Given the description of an element on the screen output the (x, y) to click on. 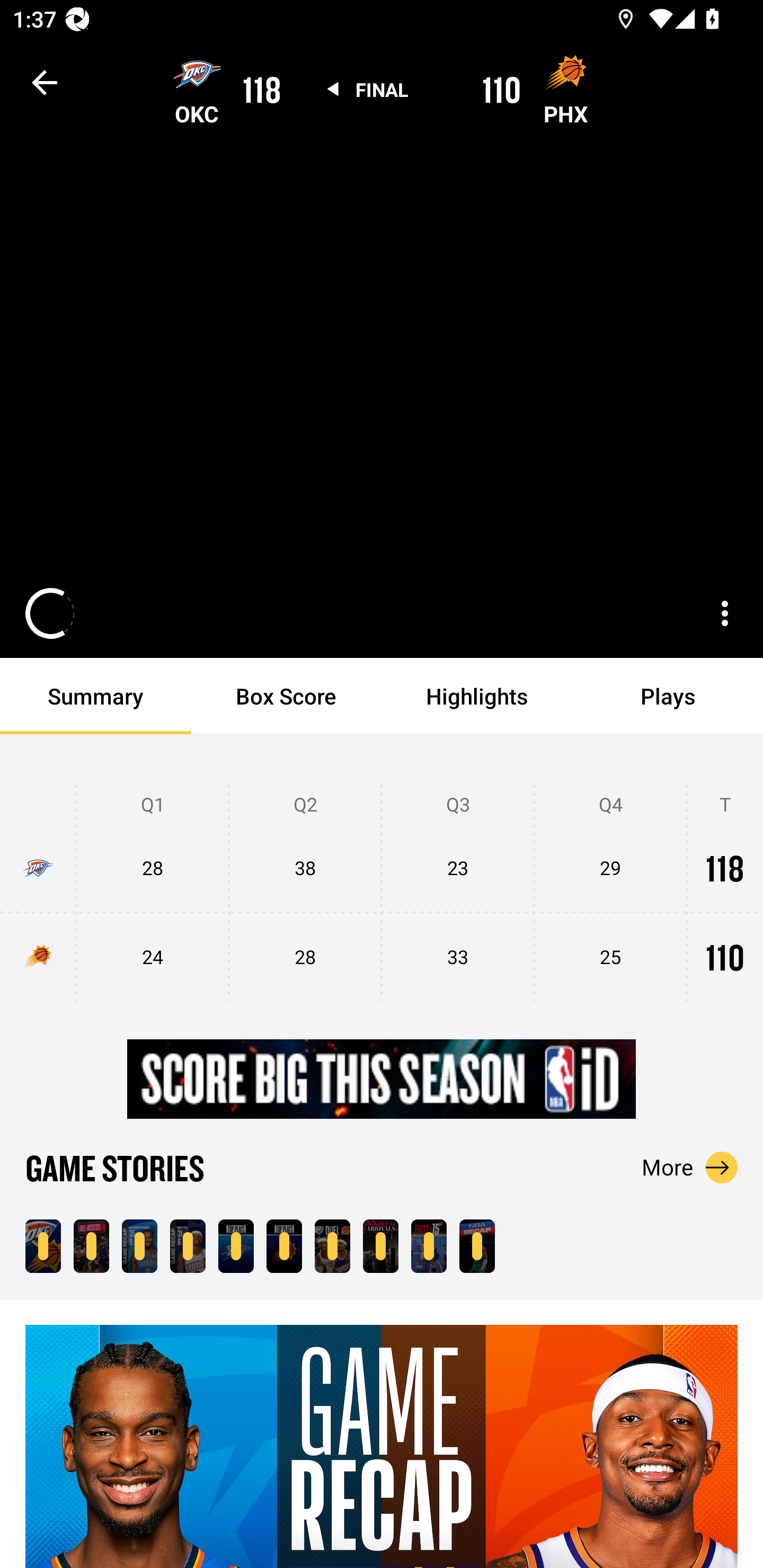
Navigate up (44, 82)
More options (724, 613)
Box Score (285, 695)
Highlights (476, 695)
Plays (667, 695)
Q1 Q2 Q3 Q4 T 28 38 23 29 118 24 28 33 25 110 (381, 893)
More (689, 1166)
OKC 118, PHX 110 - Mar 3 NEW (43, 1246)
Thunder & Suns Battle In The Valley ⚡☀ NEW (91, 1246)
Highlights From Bradley Beal's 31-Point Game NEW (187, 1246)
OKC's Top Plays from OKC vs. PHX NEW (236, 1246)
PHX's Top Plays from OKC vs. PHX NEW (284, 1246)
Bradley Beal vs Shai Gilgeous-Alexander Battle NEW (332, 1246)
Steppin' Into Sunday 🔥 NEW (380, 1246)
First To 15, Mar. 3rd NEW (428, 1246)
Sunday's Recap NEW (477, 1246)
